Given the description of an element on the screen output the (x, y) to click on. 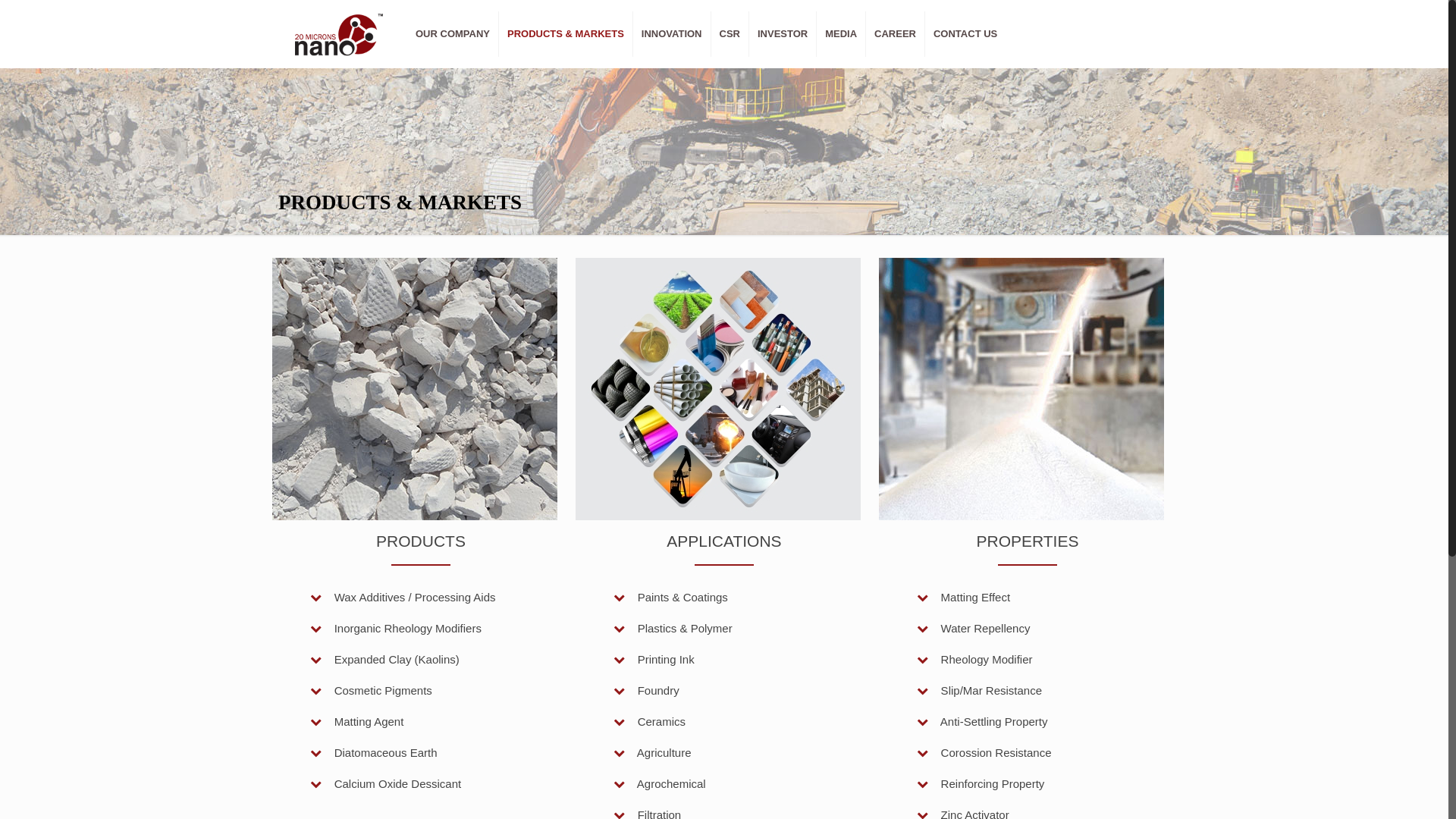
    Matting Agent Element type: text (356, 721)
20 Nano Element type: hover (338, 34)
    Calcium Oxide Dessicant Element type: text (385, 783)
CONTACT US Element type: text (965, 34)
OUR COMPANY Element type: text (452, 34)
MEDIA Element type: text (841, 34)
CSR Element type: text (730, 34)
INVESTOR Element type: text (782, 34)
CAREER Element type: text (895, 34)
INNOVATION Element type: text (672, 34)
PRODUCTS & MARKETS Element type: text (565, 34)
    Diatomaceous Earth Element type: text (373, 752)
